Given the description of an element on the screen output the (x, y) to click on. 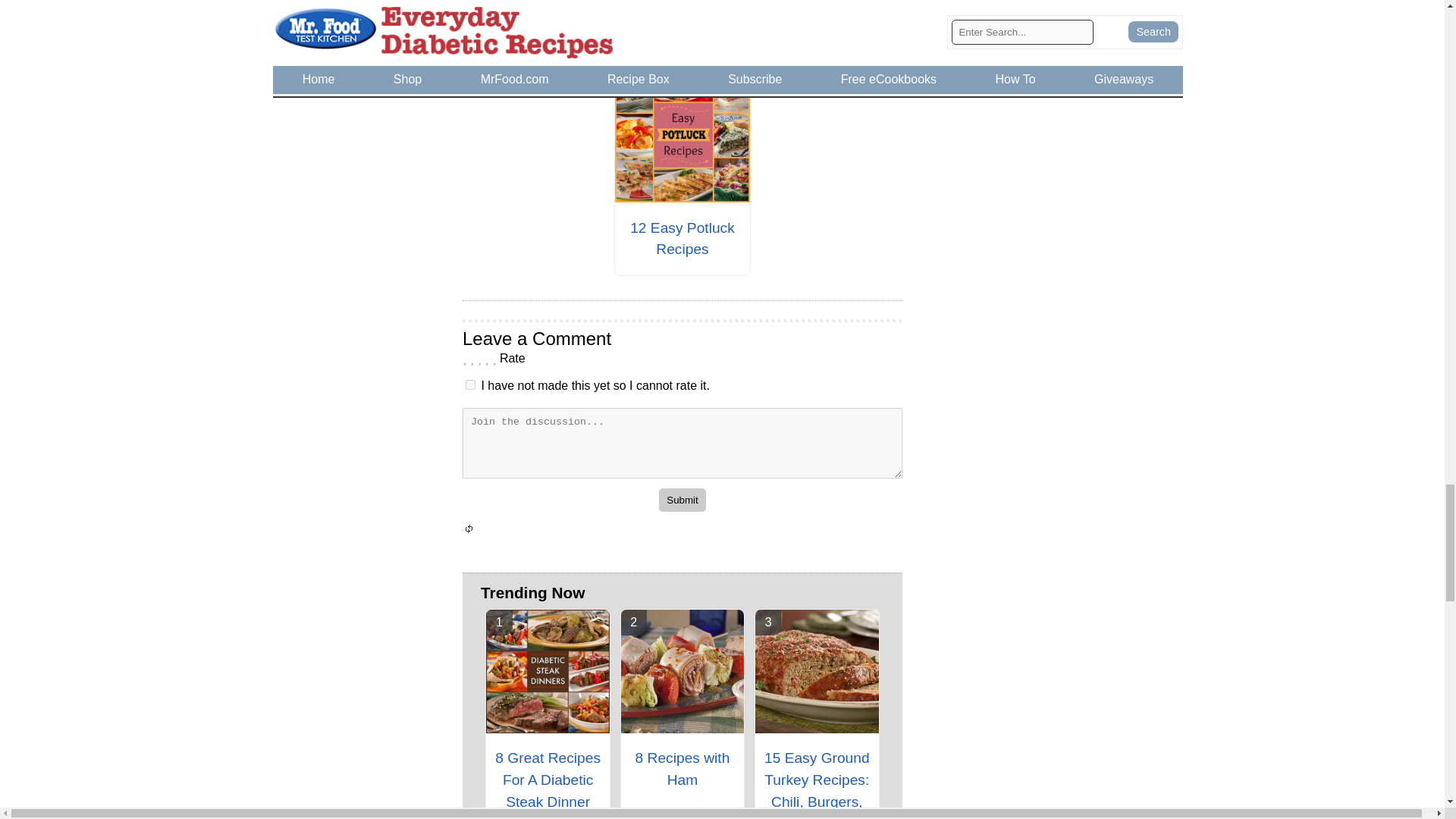
1 (470, 384)
Submit (681, 499)
